Given the description of an element on the screen output the (x, y) to click on. 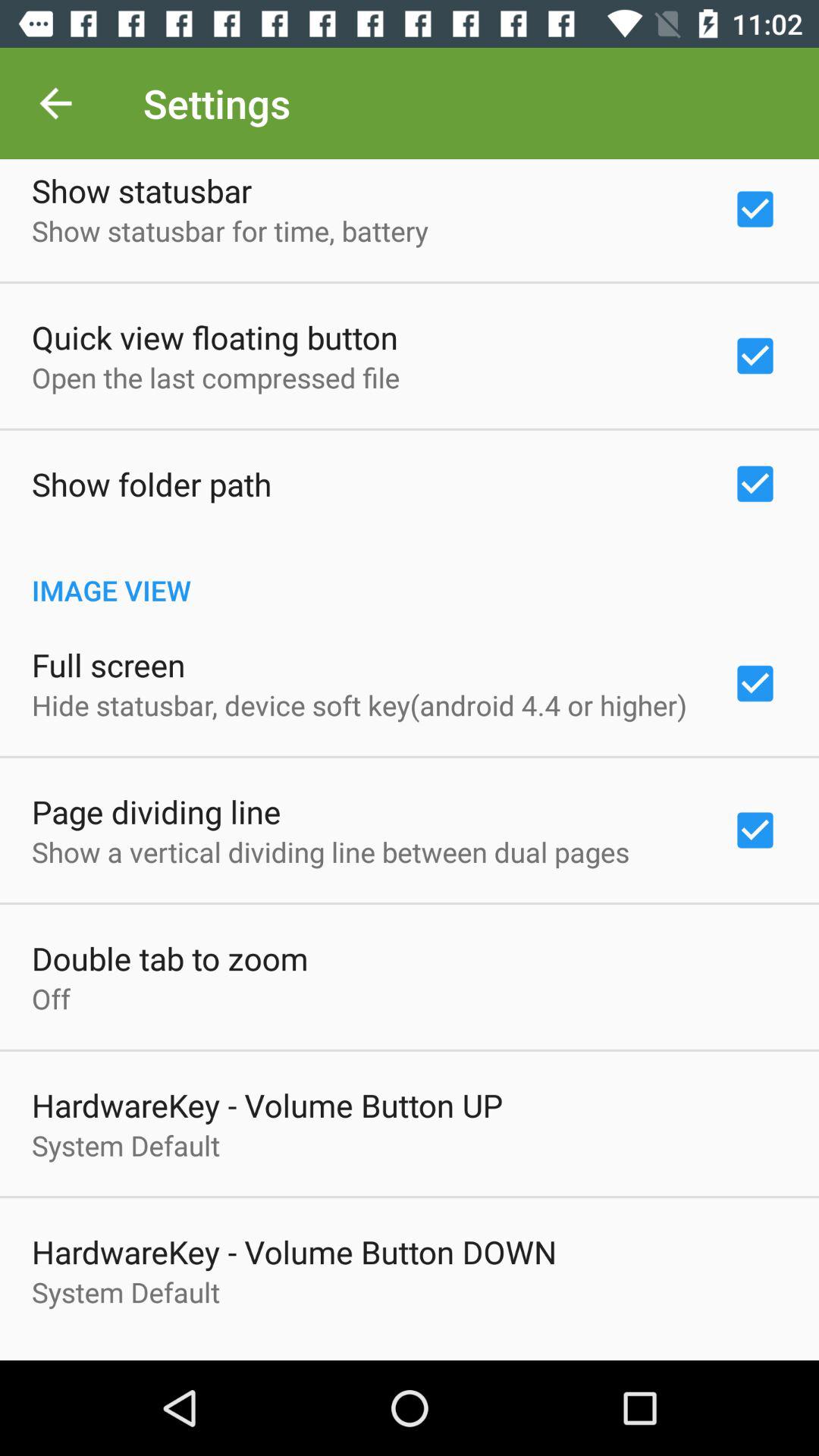
press item next to the settings (55, 103)
